Given the description of an element on the screen output the (x, y) to click on. 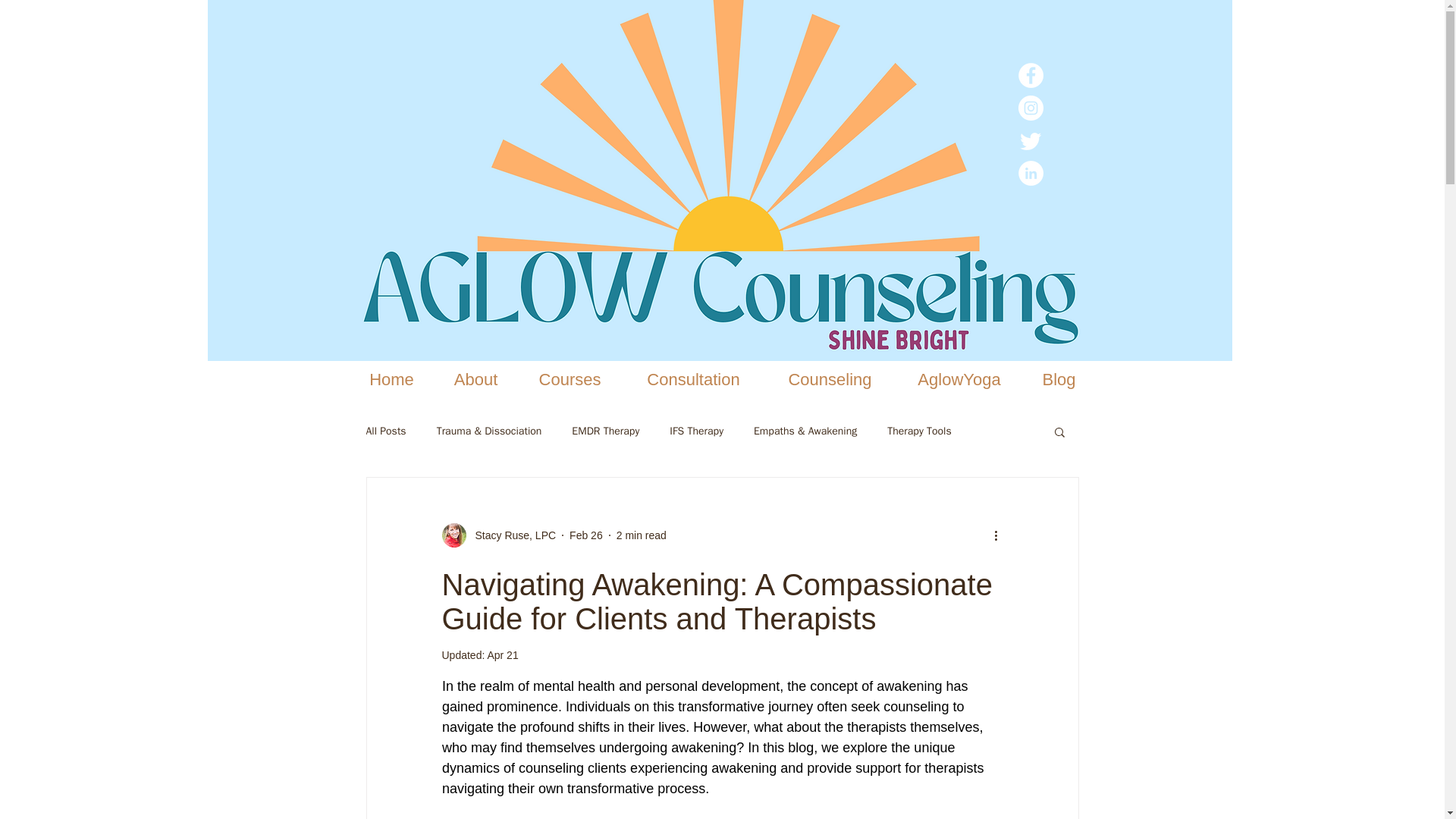
EMDR Therapy (605, 431)
Courses (569, 379)
2 min read (640, 535)
About (475, 379)
Therapy Tools (918, 431)
Blog (1058, 379)
Counseling (830, 379)
IFS Therapy (696, 431)
Consultation (693, 379)
Stacy Ruse, LPC (498, 535)
Apr 21 (502, 654)
Stacy Ruse, LPC (510, 535)
Feb 26 (585, 535)
All Posts (385, 431)
AglowYoga (960, 379)
